Given the description of an element on the screen output the (x, y) to click on. 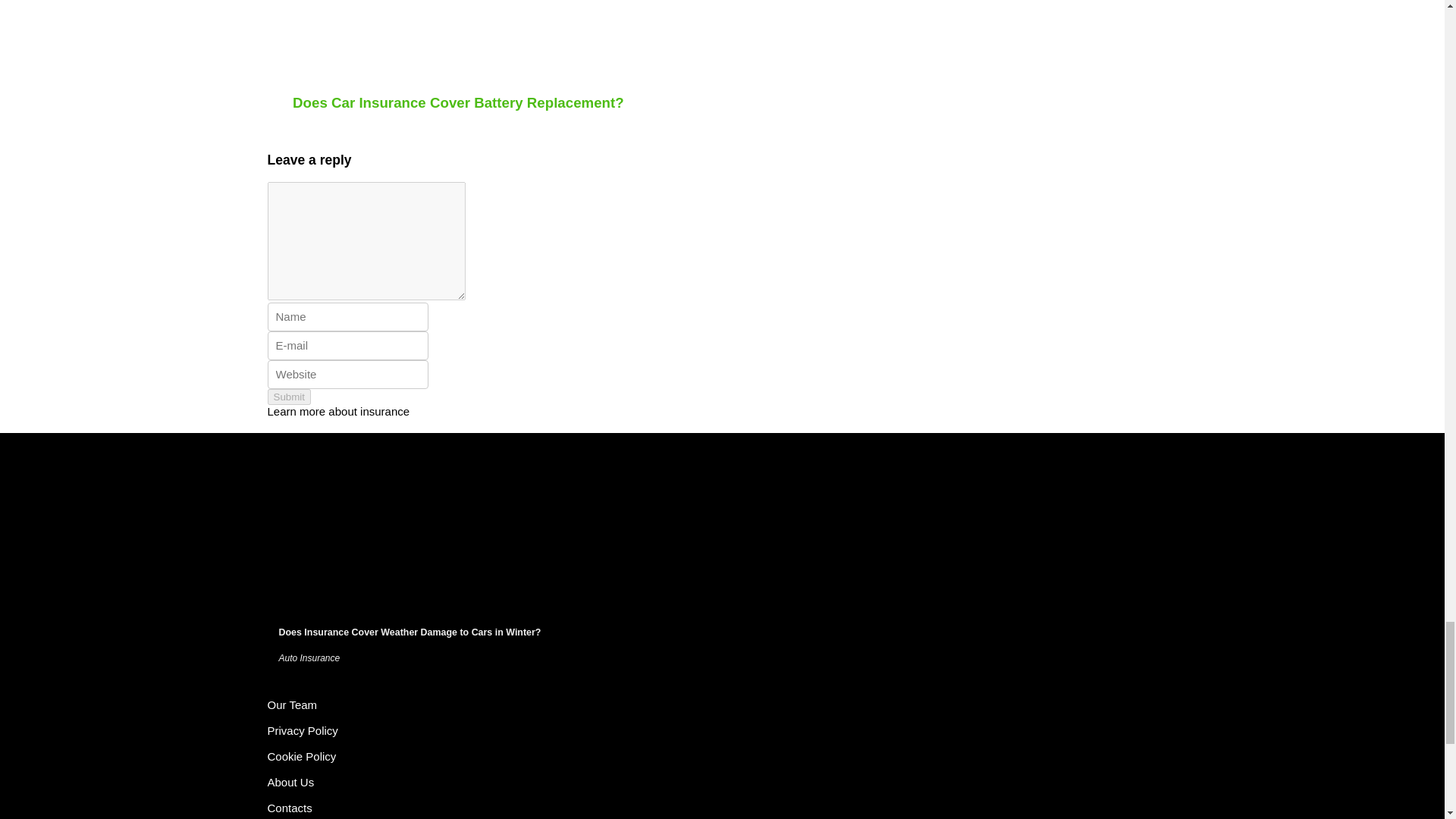
Terms (291, 704)
About Us (290, 781)
Privacy Policy (301, 730)
Submit (288, 396)
Cookie Policy (301, 756)
